Given the description of an element on the screen output the (x, y) to click on. 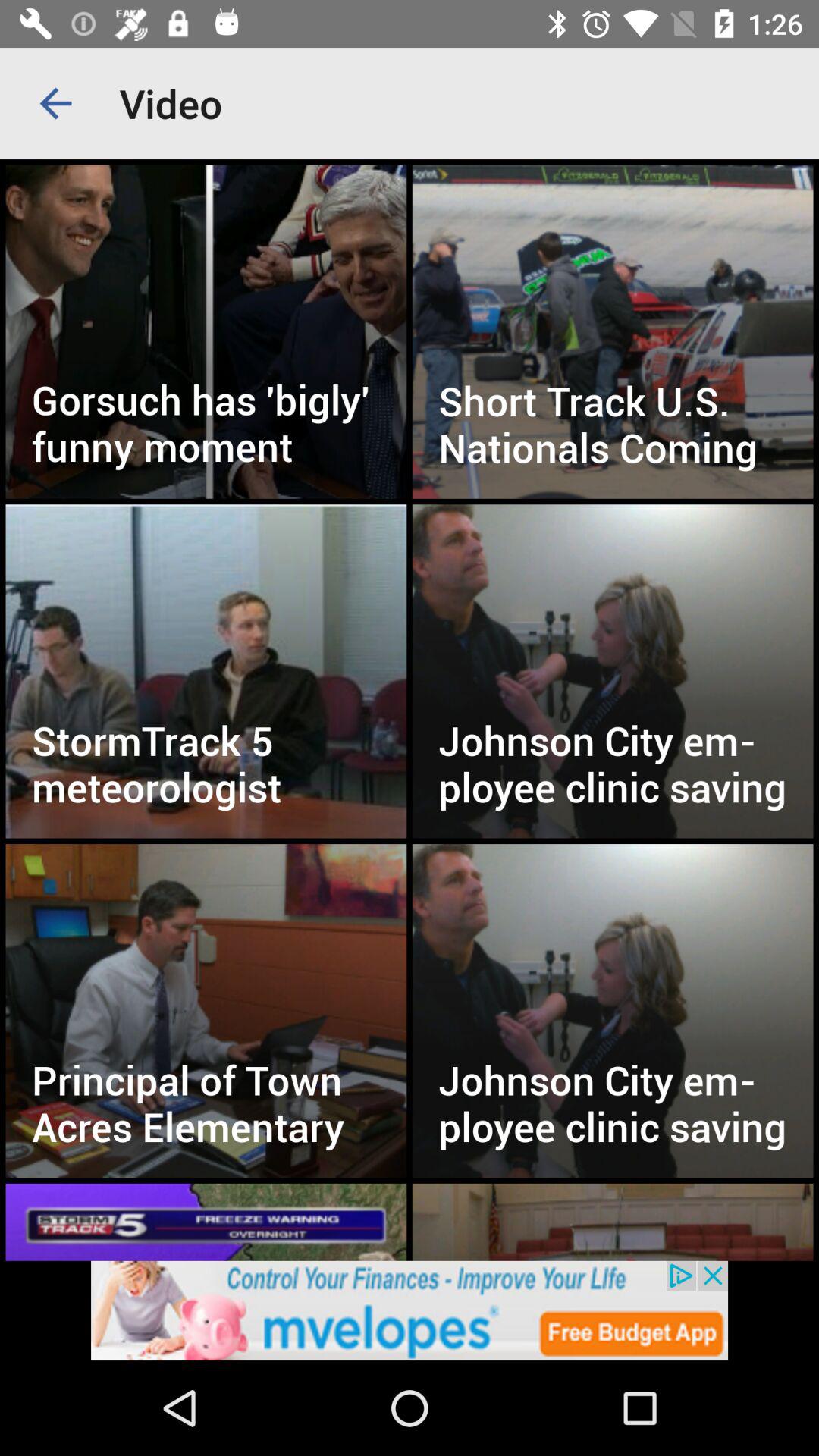
opens the advertisement (409, 1310)
